Given the description of an element on the screen output the (x, y) to click on. 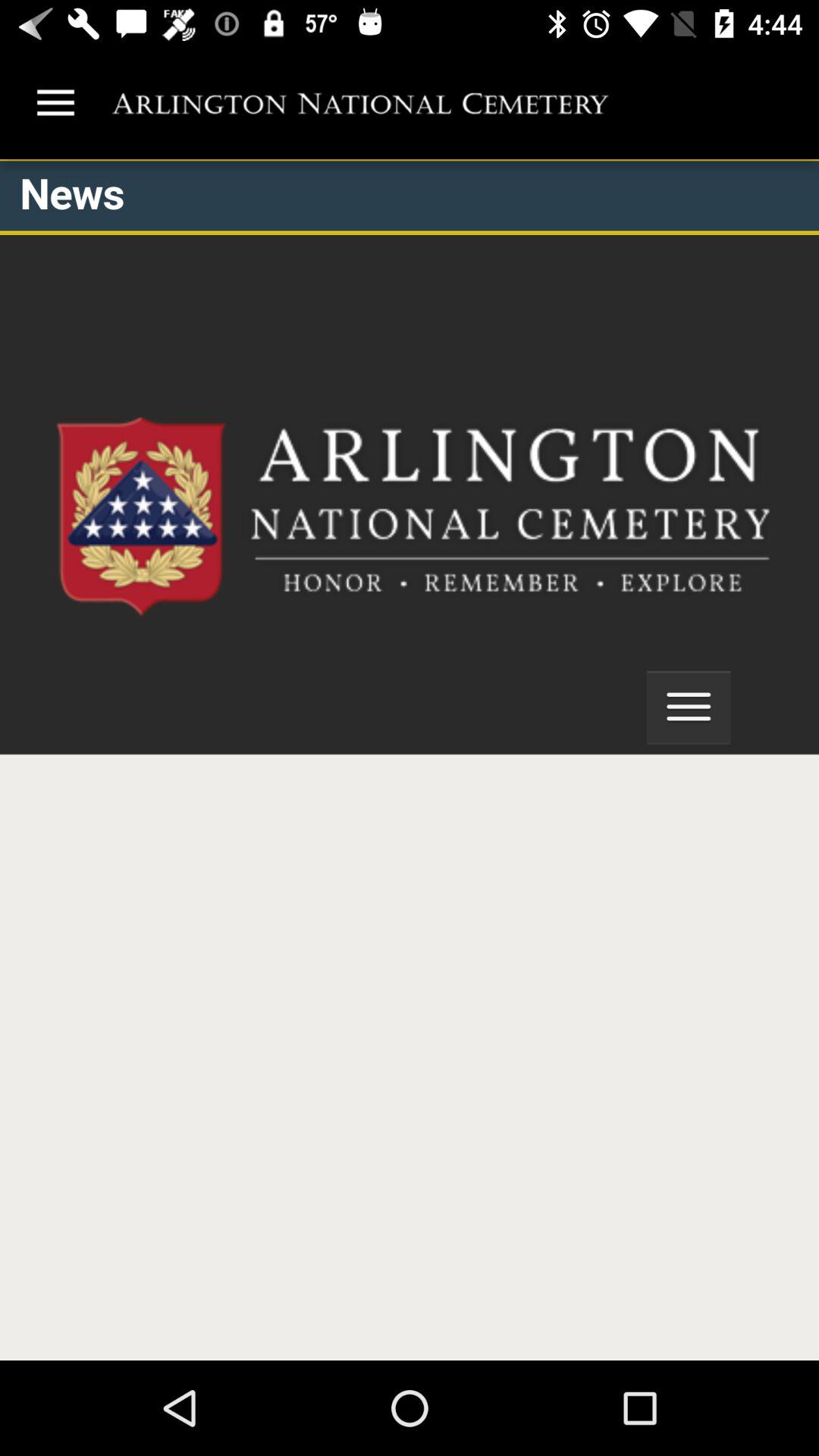
advertisement page (409, 759)
